Given the description of an element on the screen output the (x, y) to click on. 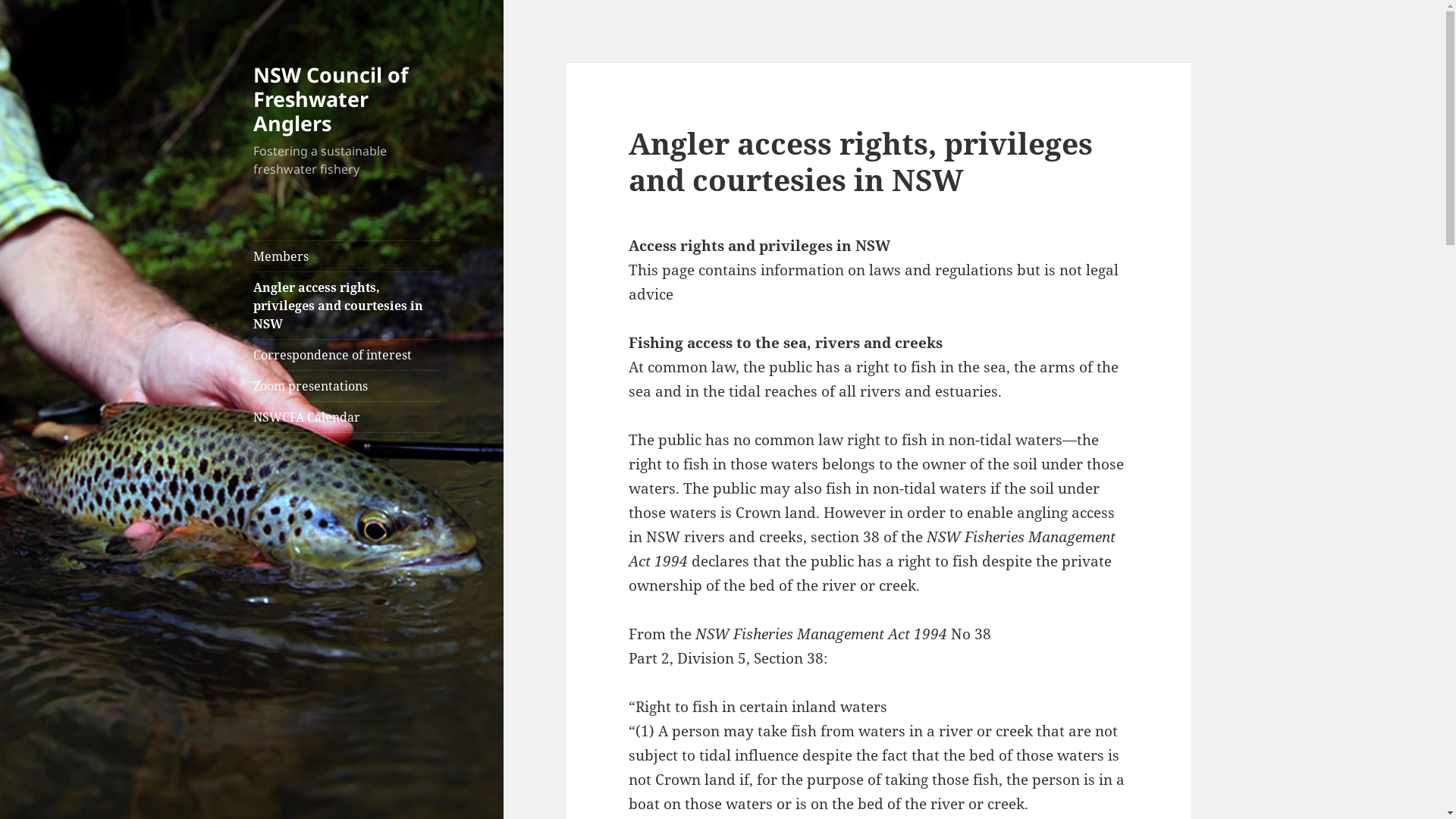
NSW Council of Freshwater Anglers Element type: text (330, 98)
Angler access rights, privileges and courtesies in NSW Element type: text (347, 305)
NSWCFA Calendar Element type: text (347, 416)
Correspondence of interest Element type: text (347, 354)
Members Element type: text (347, 256)
Zoom presentations Element type: text (347, 385)
